Given the description of an element on the screen output the (x, y) to click on. 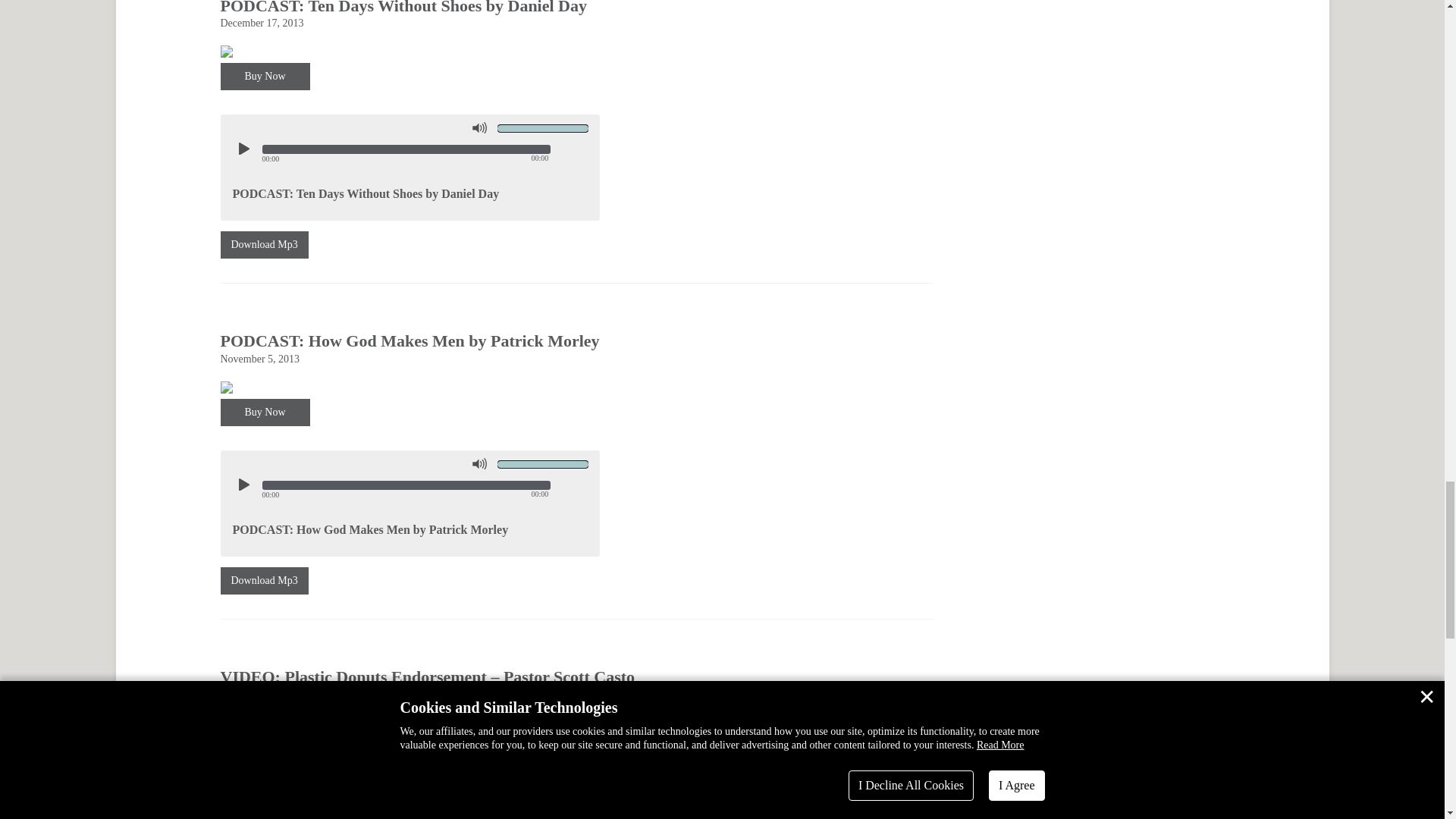
Mute (479, 463)
Play (242, 148)
Mute (479, 128)
Play (242, 484)
